Given the description of an element on the screen output the (x, y) to click on. 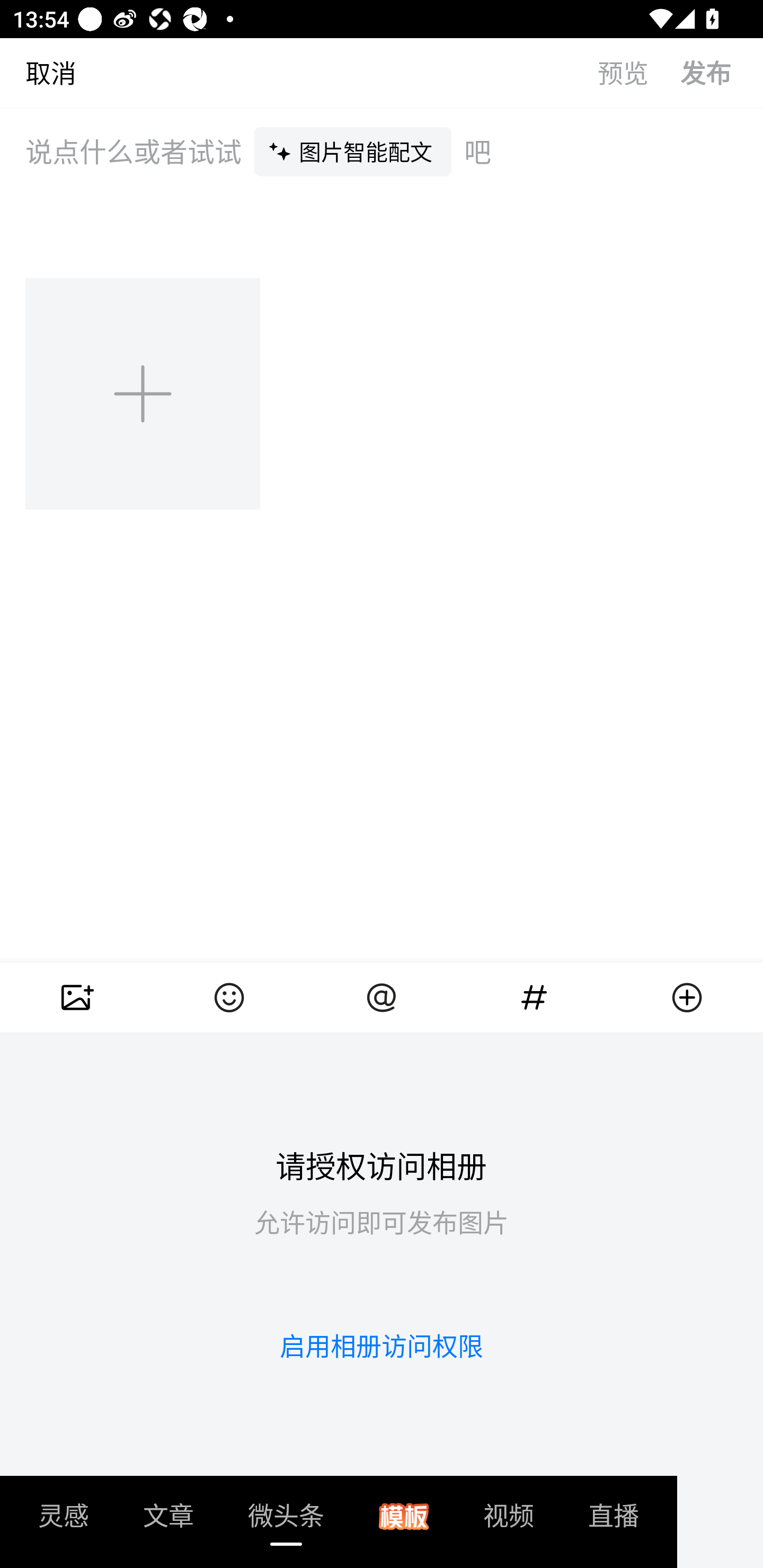
取消 (38, 71)
预览 (638, 71)
发布 (721, 71)
图片智能配文 (352, 151)
添加图片 (144, 393)
相册 (76, 996)
表情 (228, 996)
at (381, 996)
话题 (533, 996)
更多 (686, 996)
启用相册访问权限 (381, 1345)
灵感 (63, 1521)
文章 (168, 1521)
微头条 (285, 1521)
视频 (508, 1521)
直播 (613, 1521)
